Given the description of an element on the screen output the (x, y) to click on. 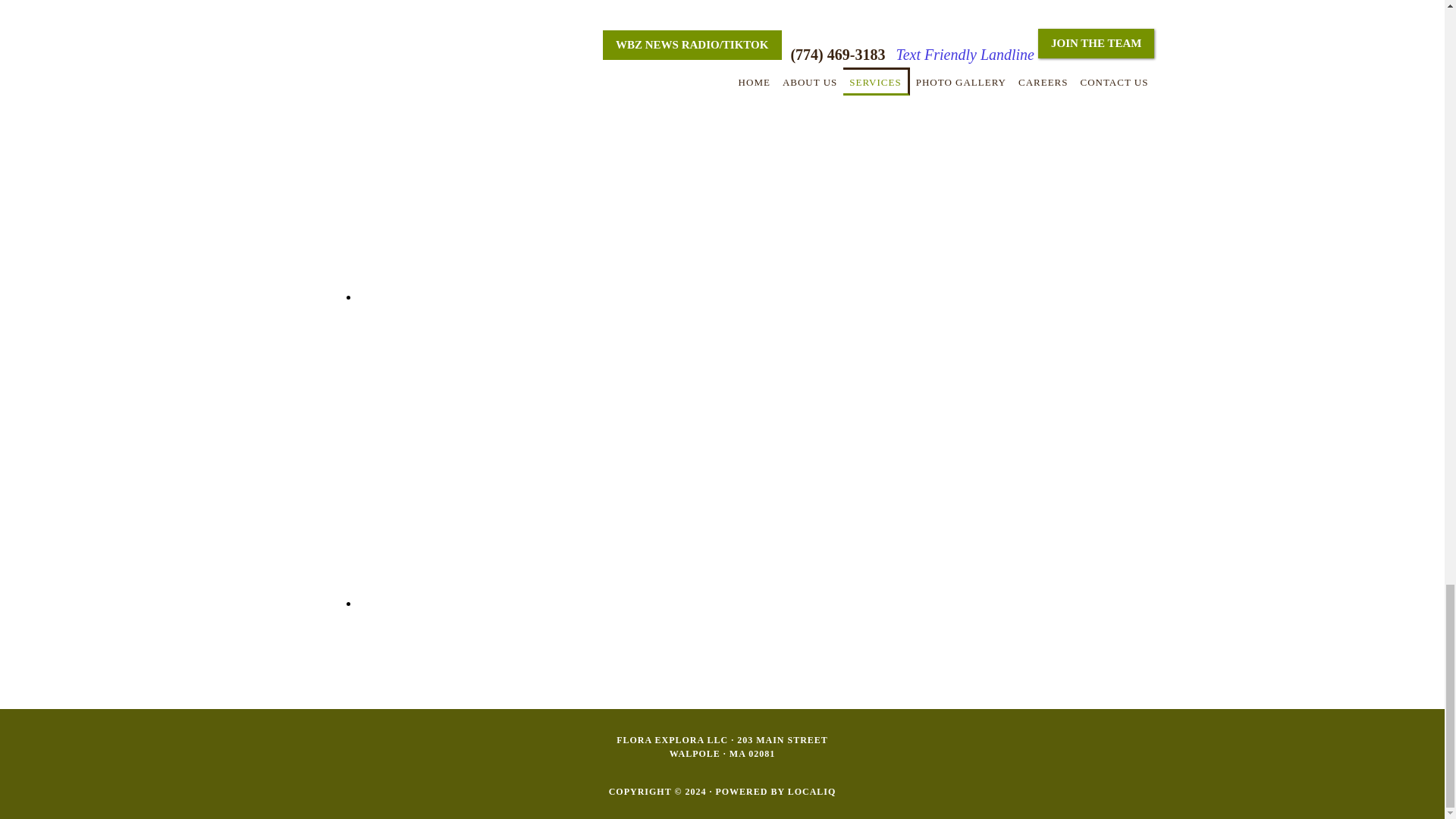
LinkedIn (509, 296)
LOCALIQ (811, 791)
Instagram (509, 603)
FLORA EXPLORA LLC (671, 739)
